Given the description of an element on the screen output the (x, y) to click on. 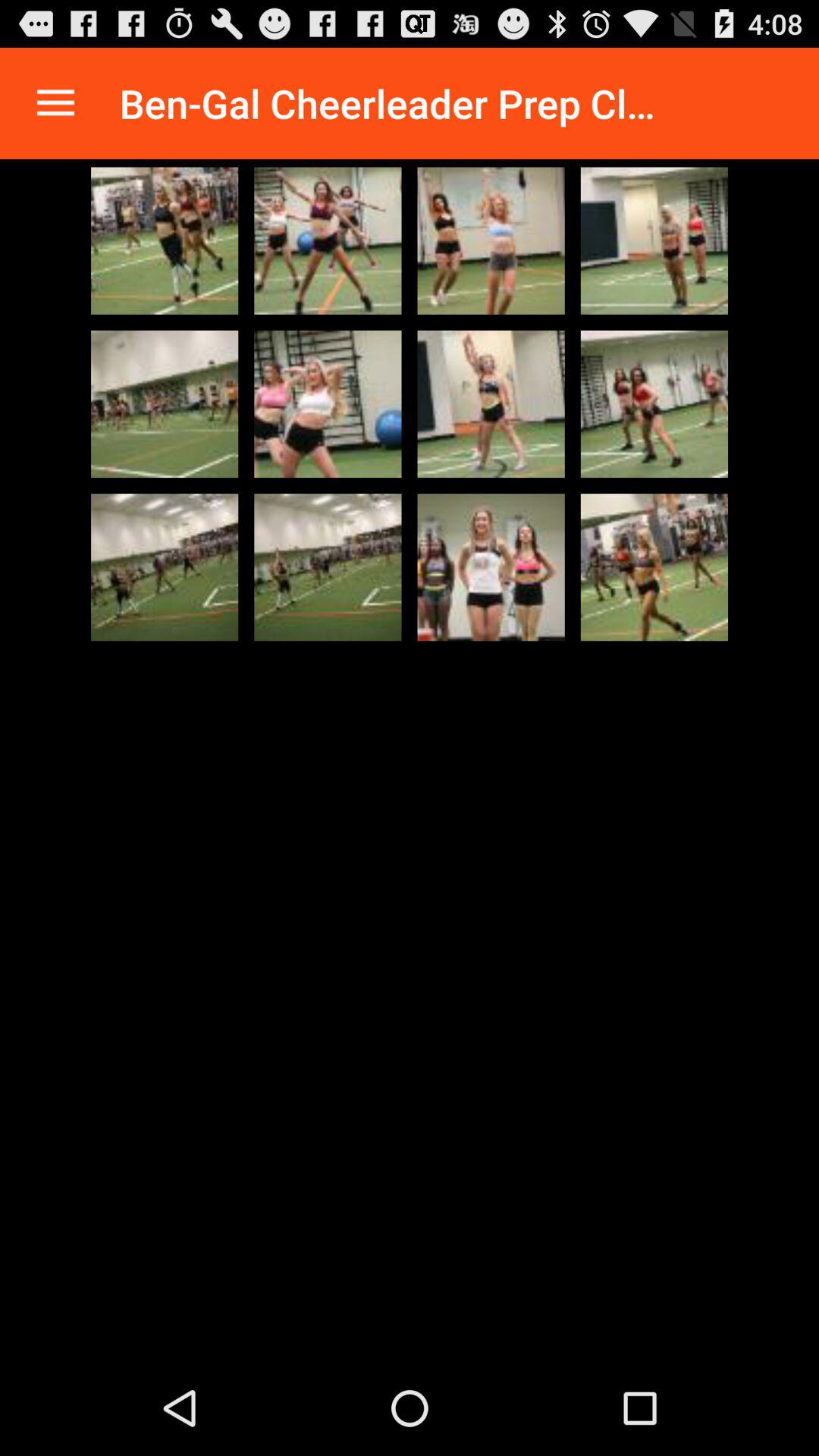
press the app to the left of ben gal cheerleader app (55, 103)
